Given the description of an element on the screen output the (x, y) to click on. 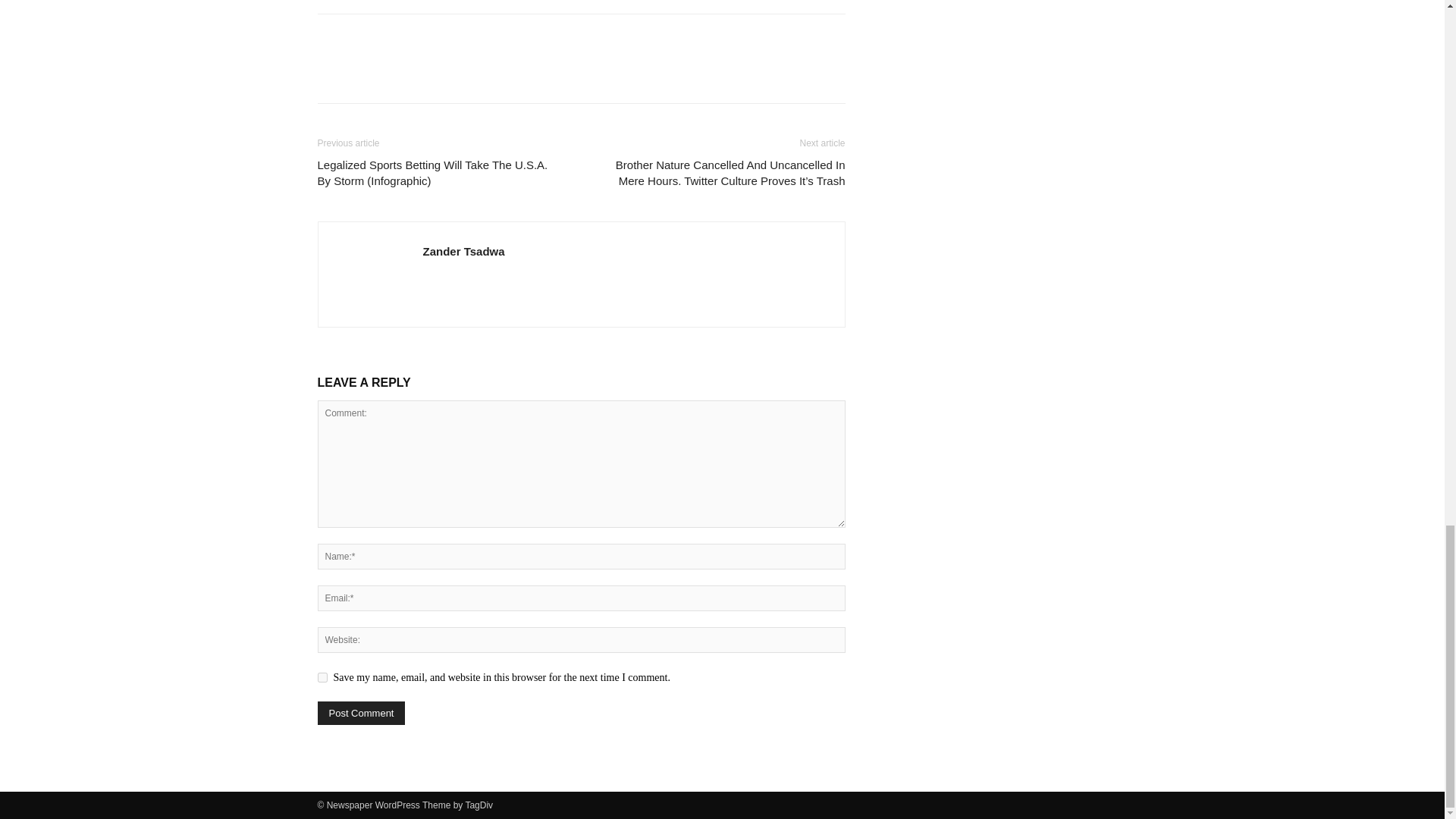
bottomFacebookLike (430, 37)
Post Comment (360, 712)
yes (321, 677)
